Given the description of an element on the screen output the (x, y) to click on. 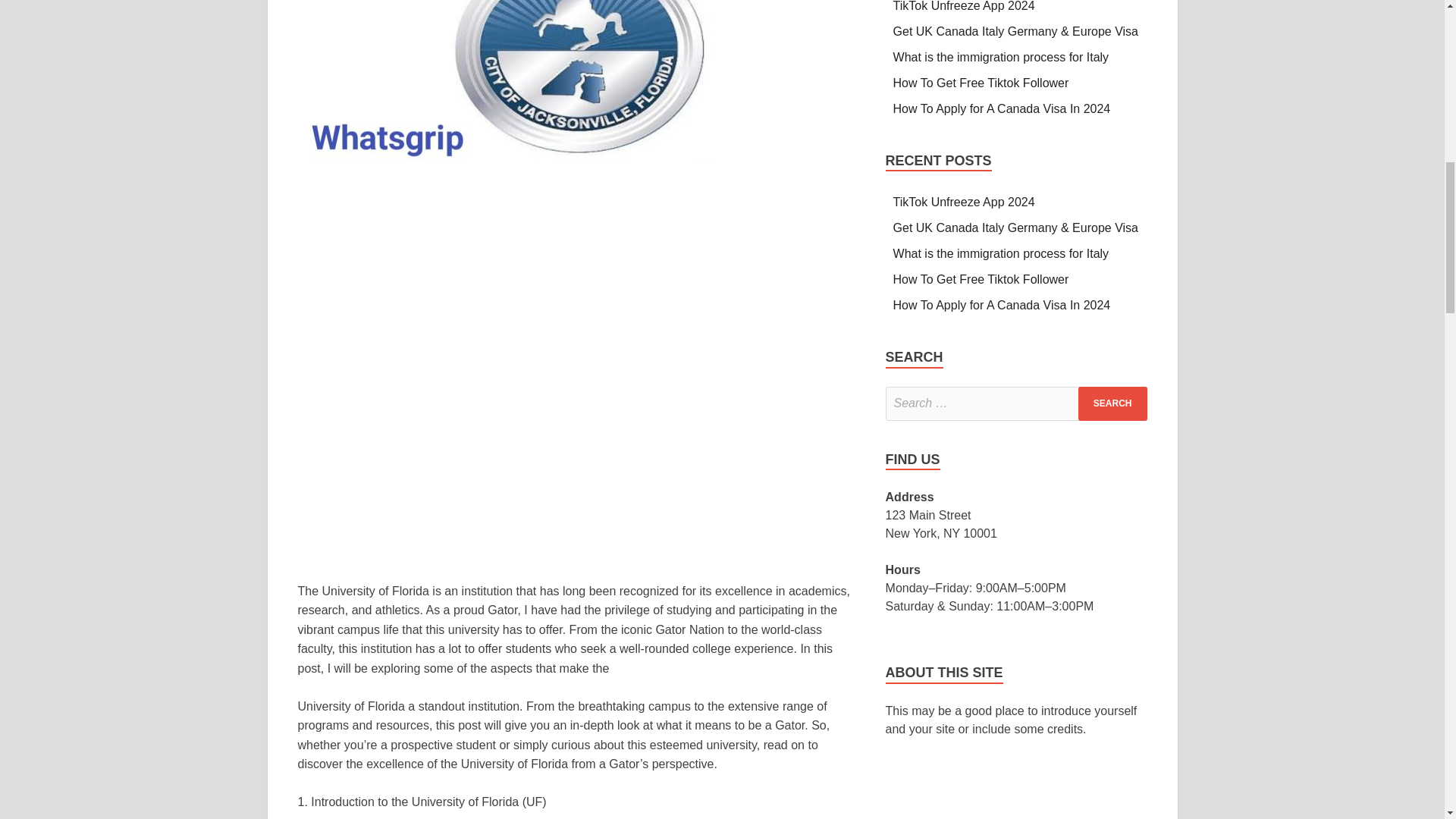
Search (1112, 403)
Search (1112, 403)
How To Get Free Tiktok Follower  (982, 82)
How To Apply for A Canada Visa In 2024 (1001, 108)
What is the immigration process for Italy (1001, 56)
TikTok Unfreeze App 2024 (964, 6)
